Given the description of an element on the screen output the (x, y) to click on. 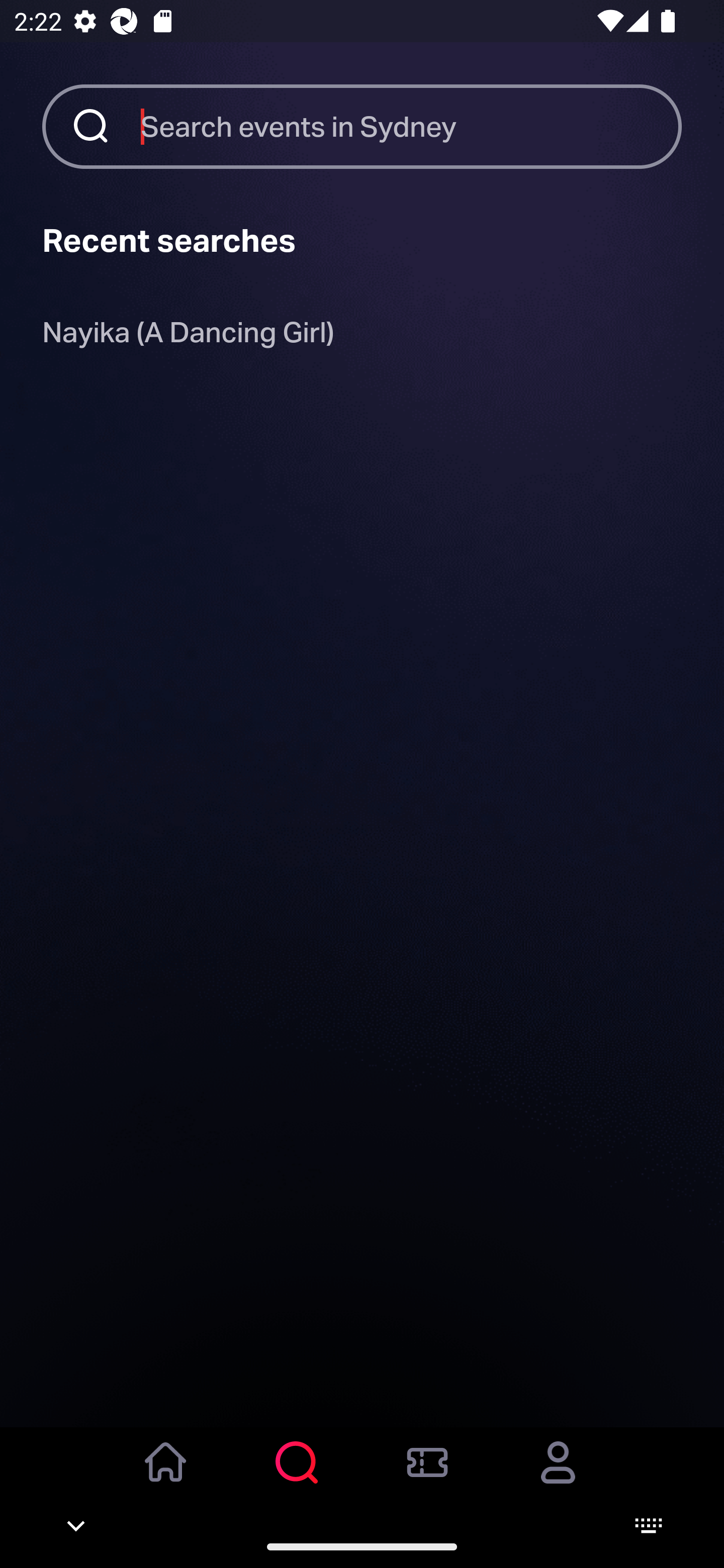
Search events in Sydney (411, 126)
Nayika (A Dancing Girl) (187, 336)
Home (165, 1475)
Orders (427, 1475)
Account (558, 1475)
